Given the description of an element on the screen output the (x, y) to click on. 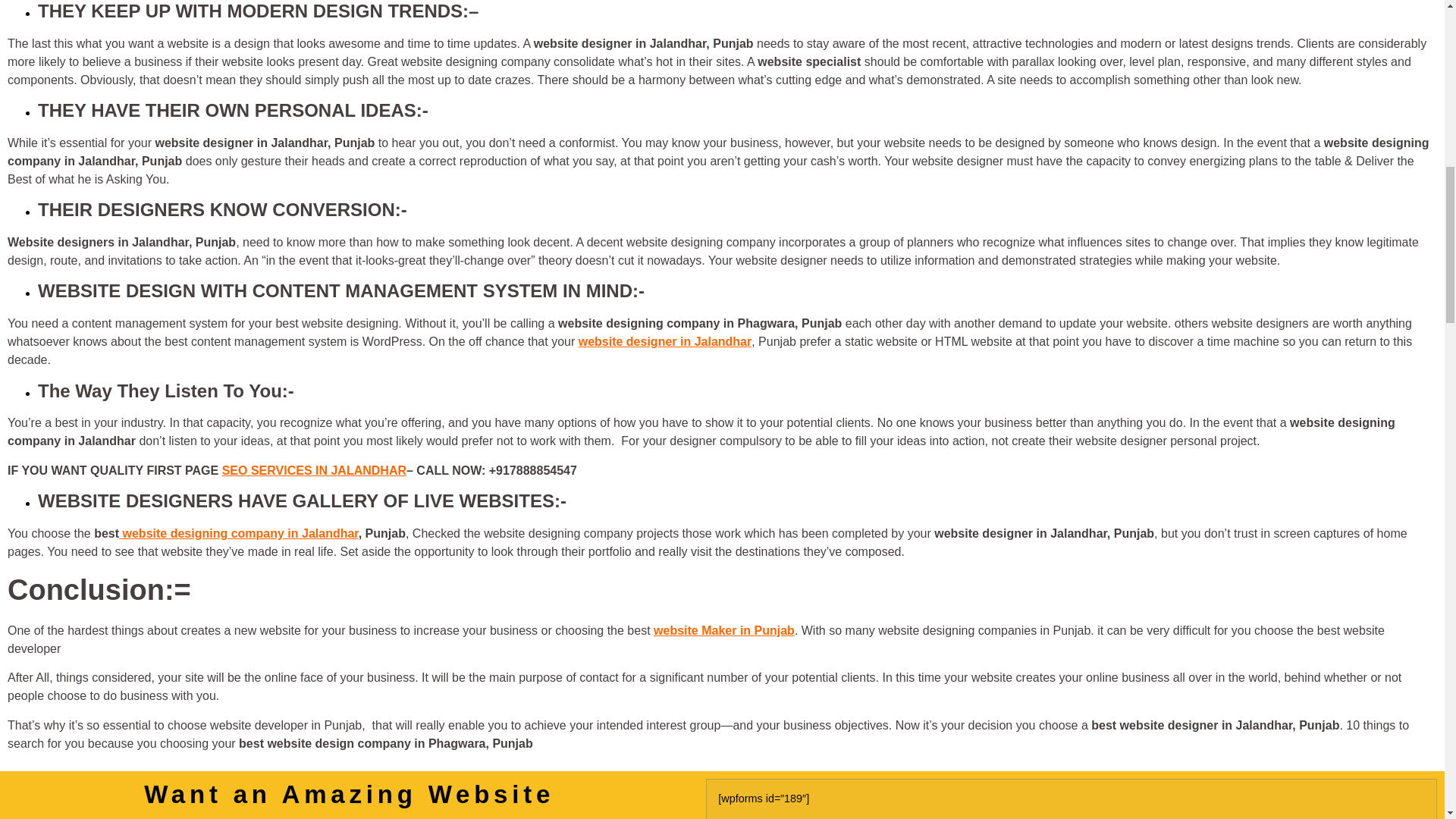
website Maker in Punjab (723, 630)
SEO SERVICES IN JALANDHAR (314, 470)
website designing company in Jalandhar (238, 533)
website designer in Jalandhar (665, 341)
